Given the description of an element on the screen output the (x, y) to click on. 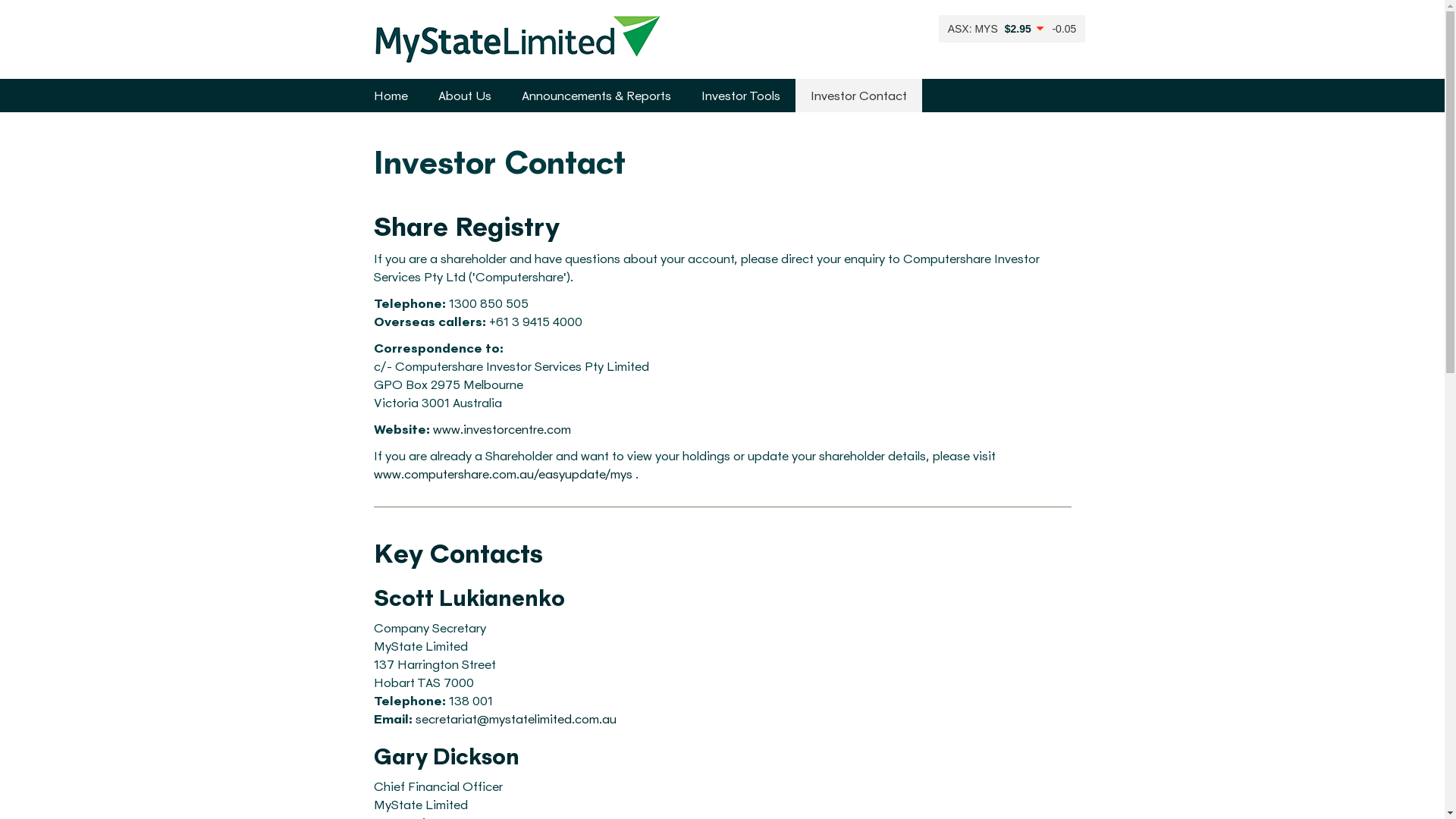
Investor Tools Element type: text (739, 95)
Announcements & Reports Element type: text (596, 95)
secretariat@mystatelimited.com.au Element type: text (515, 718)
Home Element type: text (389, 95)
Investor Contact Element type: text (857, 95)
www.computershare.com.au/easyupdate/mys
Opens in new window Element type: text (502, 473)
www.investorcentre.com
Opens in new window Element type: text (501, 428)
About Us Element type: text (464, 95)
